Given the description of an element on the screen output the (x, y) to click on. 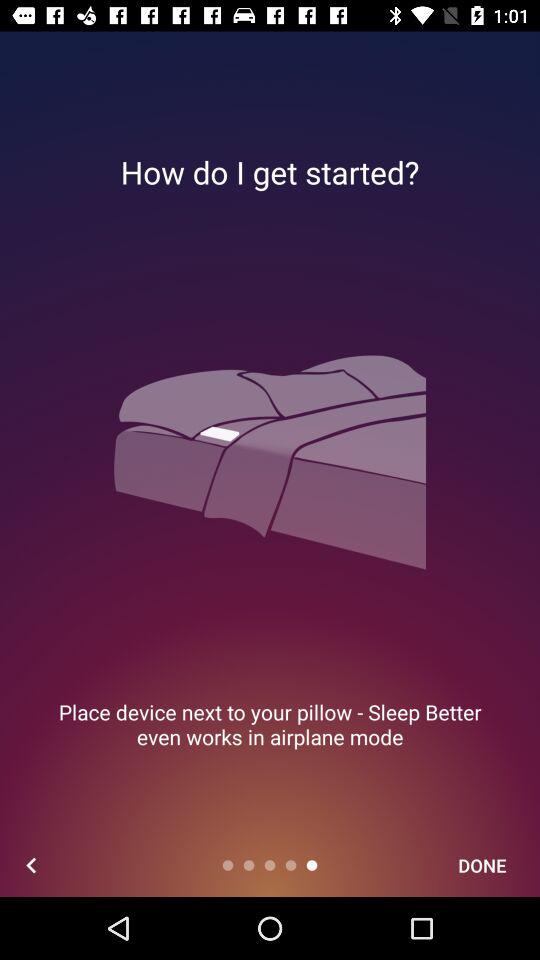
turn off done (482, 864)
